Given the description of an element on the screen output the (x, y) to click on. 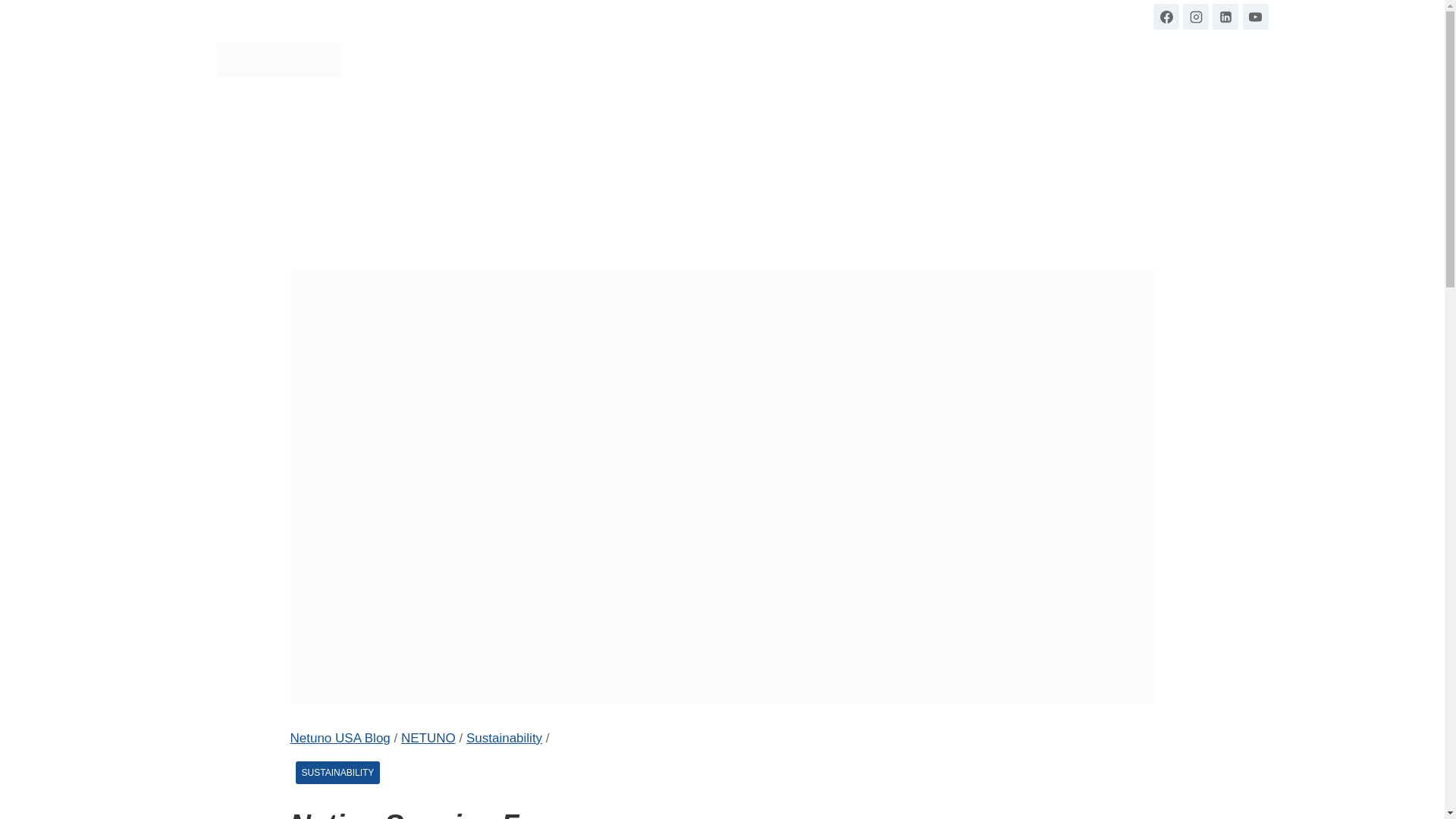
NETUNO (949, 59)
NETUNO (428, 738)
Go to the Sustainability Category archives. (503, 738)
Recipes (870, 59)
Sustainability (1149, 59)
Go to the NETUNO Category archives. (428, 738)
Go to Netuno USA Blog. (339, 738)
Seafood Industry (1047, 59)
SUSTAINABILITY (337, 772)
Sustainability (503, 738)
